Given the description of an element on the screen output the (x, y) to click on. 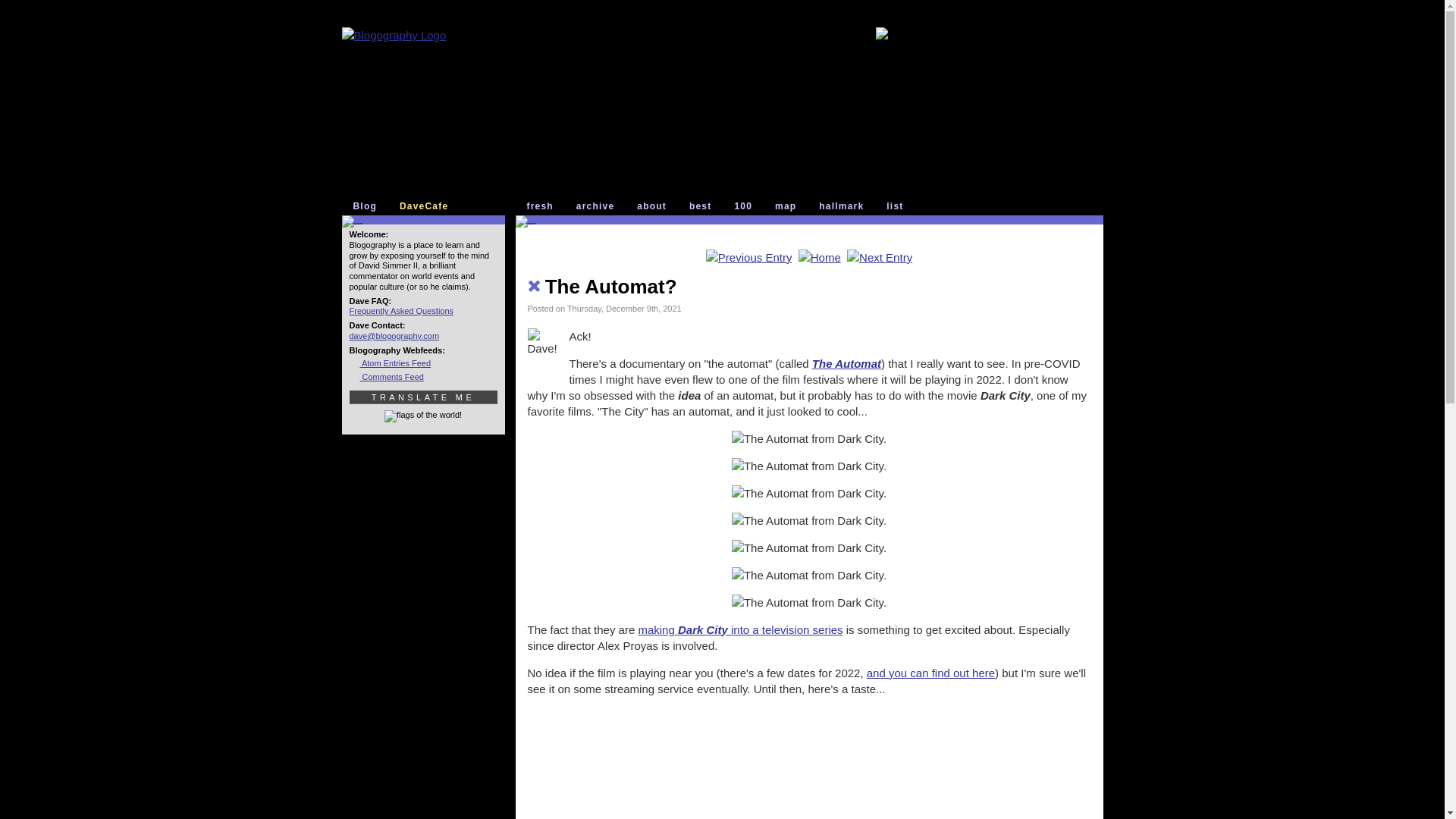
Comments Feed (386, 376)
best (703, 206)
100 (745, 206)
fresh (542, 206)
Atom Entries Feed (389, 362)
Blog (368, 206)
map (789, 206)
about (654, 206)
archive (599, 206)
Frequently Asked Questions (400, 310)
